Given the description of an element on the screen output the (x, y) to click on. 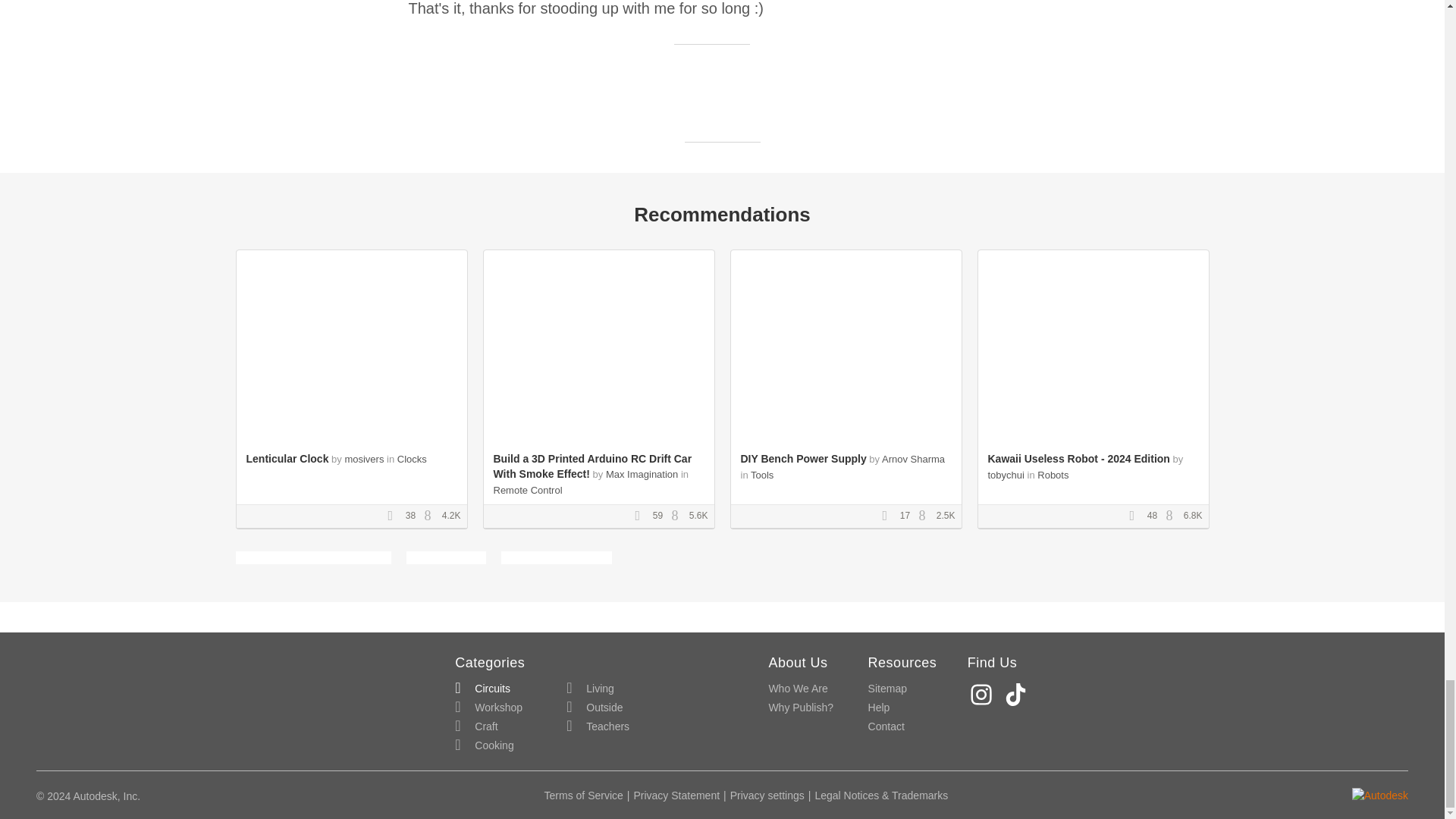
Kawaii Useless Robot - 2024 Edition (1078, 458)
Views Count (431, 516)
Views Count (925, 516)
Build a 3D Printed Arduino RC Drift Car With Smoke Effect! (592, 465)
TikTok (1018, 694)
Favorites Count (395, 516)
Clocks (411, 459)
tobychui (1005, 474)
Favorites Count (1136, 516)
Circuits (482, 688)
Max Imagination (641, 473)
Favorites Count (641, 516)
Workshop (488, 707)
DIY Bench Power Supply (802, 458)
Robots (1052, 474)
